Given the description of an element on the screen output the (x, y) to click on. 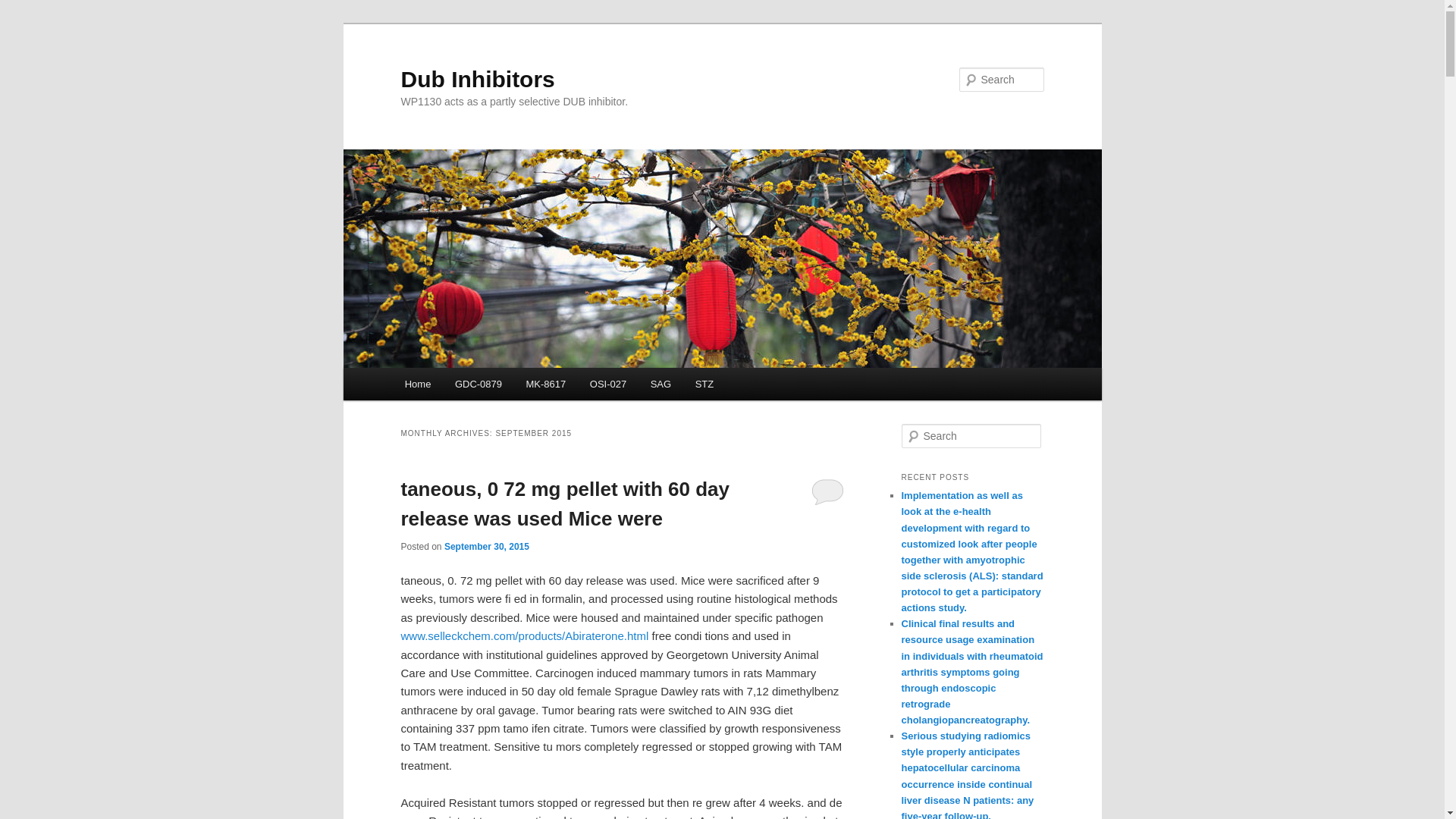
GDC-0879 (477, 383)
Skip to secondary content (479, 386)
OSI-027 (608, 383)
Search (24, 8)
Skip to primary content (472, 386)
Dub Inhibitors (477, 78)
STZ (703, 383)
7:10 am (486, 546)
Dub Inhibitors (477, 78)
SAG (660, 383)
September 30, 2015 (486, 546)
Skip to primary content (472, 386)
